Given the description of an element on the screen output the (x, y) to click on. 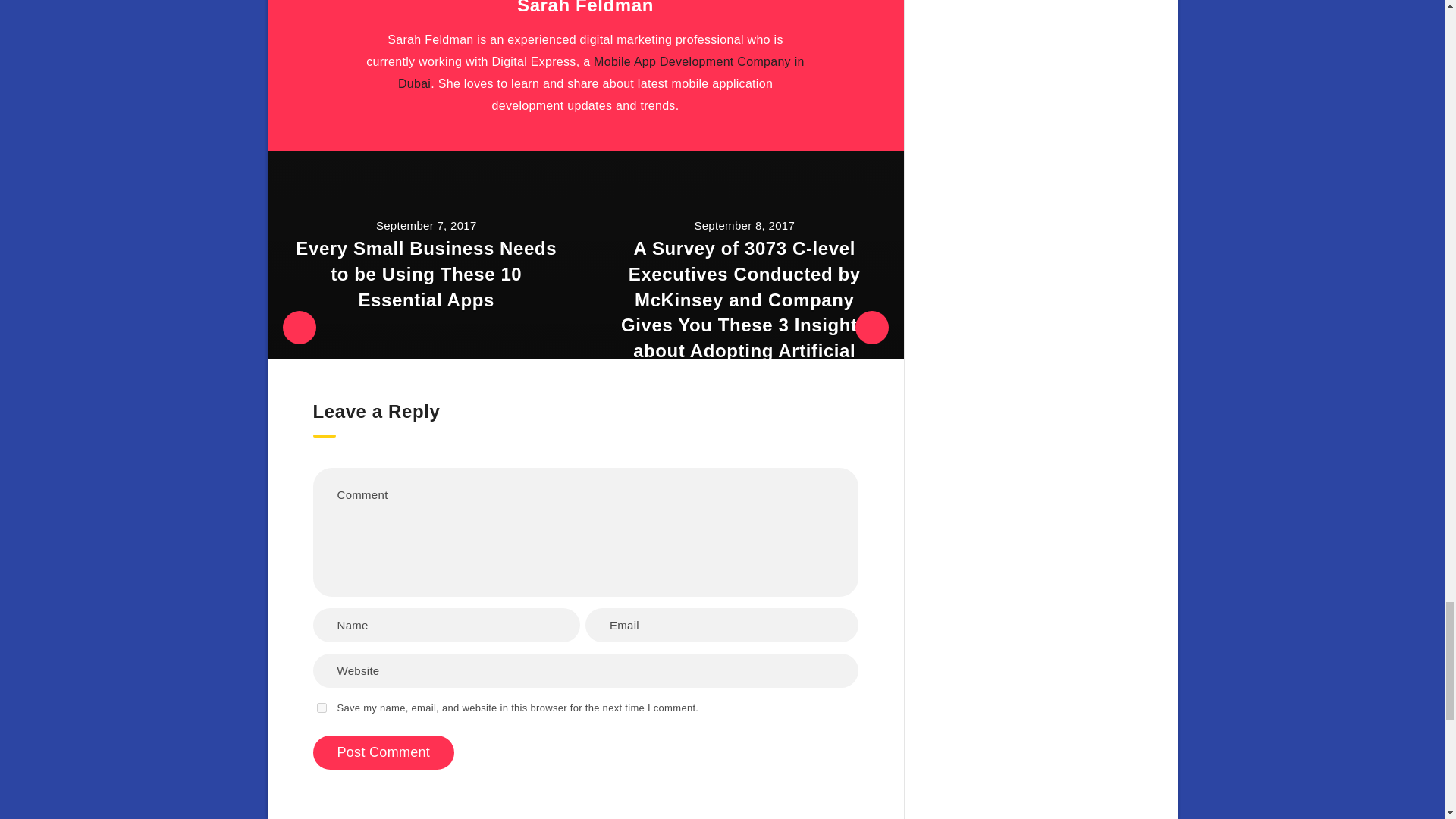
Post Comment (383, 752)
yes (321, 707)
